Given the description of an element on the screen output the (x, y) to click on. 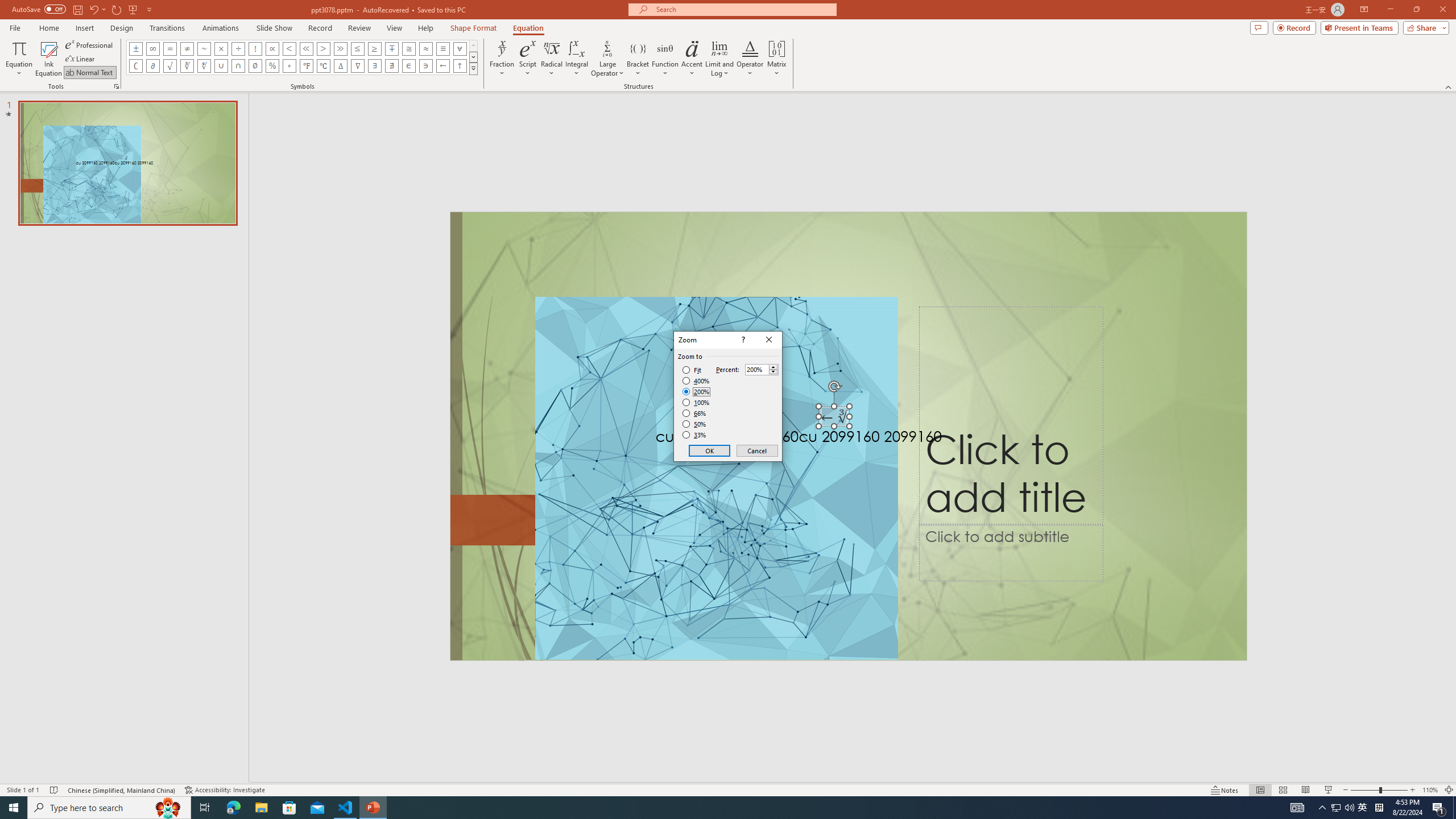
Percent (761, 369)
Equation Symbol Nabla (357, 65)
100% (696, 402)
Context help (742, 339)
Zoom 110% (1430, 790)
AutomationID: EquationSymbolsInsertGallery (302, 57)
Equation Symbol Less Than or Equal To (357, 48)
Equation Symbol Plus Minus (136, 48)
Equation Symbol Left Arrow (442, 65)
